Given the description of an element on the screen output the (x, y) to click on. 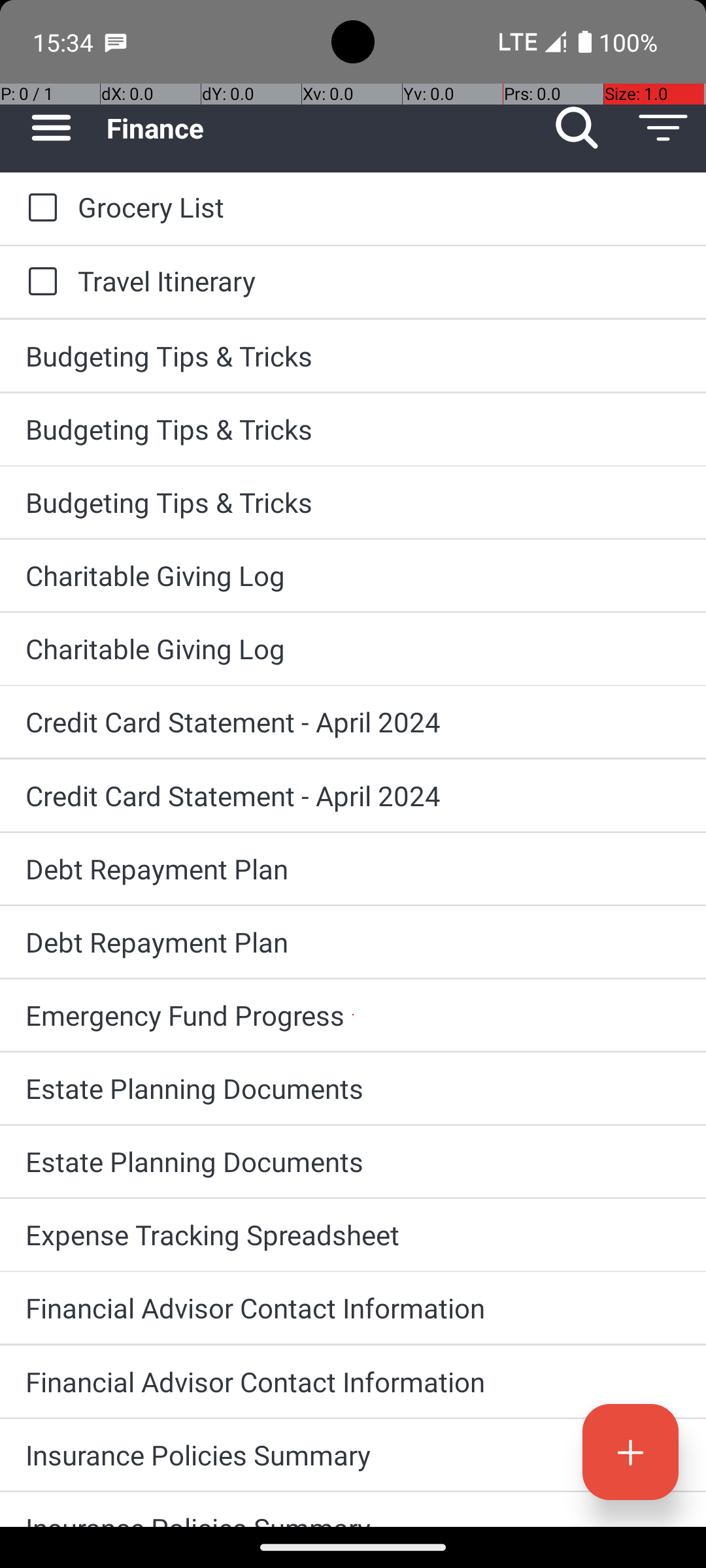
to-do: Grocery List Element type: android.widget.CheckBox (38, 208)
Grocery List Element type: android.widget.TextView (378, 206)
to-do: Travel Itinerary Element type: android.widget.CheckBox (38, 282)
Travel Itinerary Element type: android.widget.TextView (378, 280)
Budgeting Tips & Tricks Element type: android.widget.TextView (352, 355)
Charitable Giving Log Element type: android.widget.TextView (352, 574)
Credit Card Statement - April 2024 Element type: android.widget.TextView (352, 721)
Debt Repayment Plan Element type: android.widget.TextView (352, 868)
Emergency Fund Progress Element type: android.widget.TextView (352, 1014)
Estate Planning Documents Element type: android.widget.TextView (352, 1087)
Expense Tracking Spreadsheet Element type: android.widget.TextView (352, 1234)
Insurance Policies Summary Element type: android.widget.TextView (352, 1454)
